Given the description of an element on the screen output the (x, y) to click on. 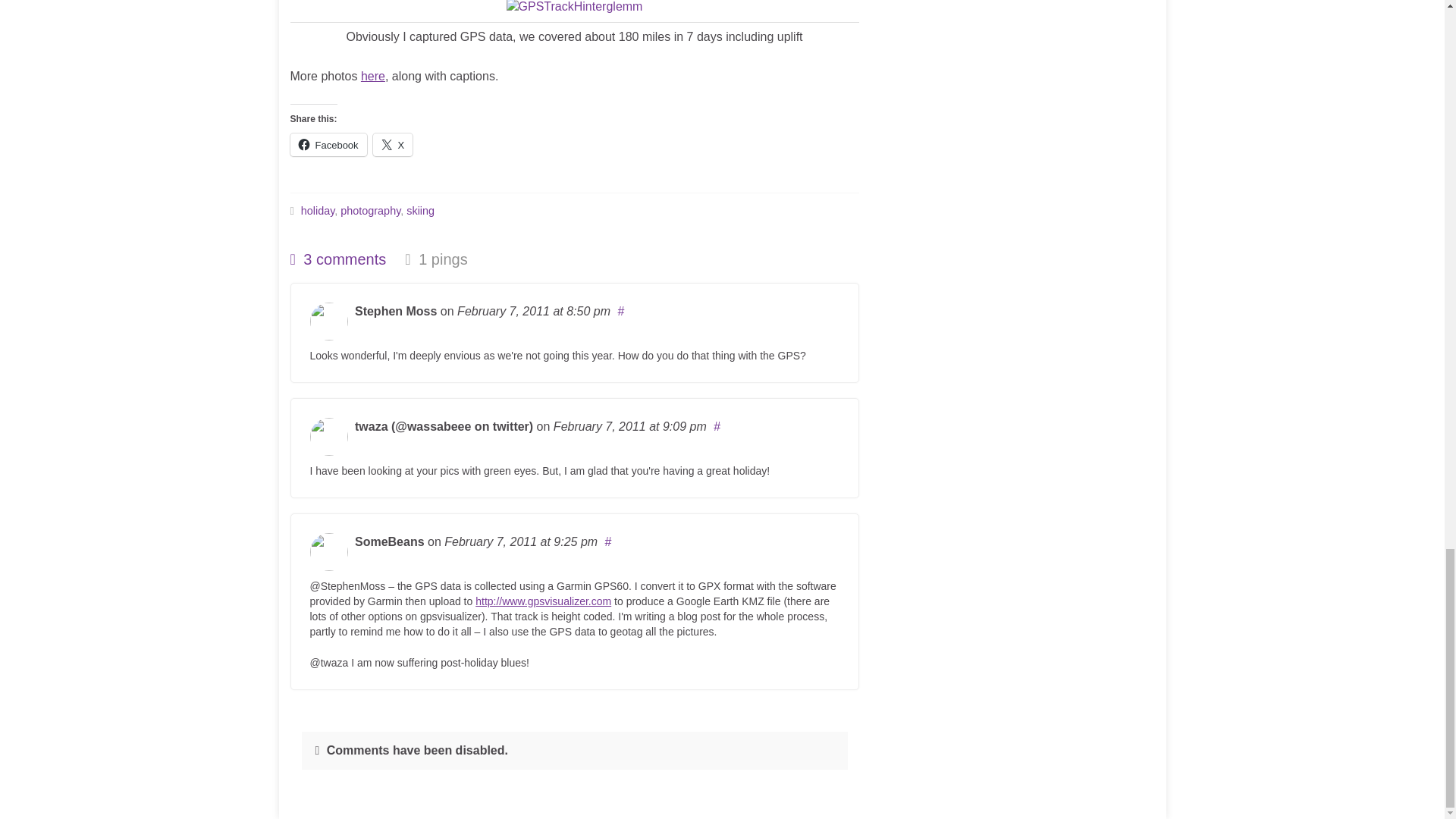
X (392, 144)
Facebook (327, 144)
1 pings (435, 258)
holiday (317, 210)
photography (370, 210)
skiing (419, 210)
Click to share on Facebook (327, 144)
3 comments (337, 258)
GPSTrackHinterglemm (574, 7)
Click to share on X (392, 144)
